Given the description of an element on the screen output the (x, y) to click on. 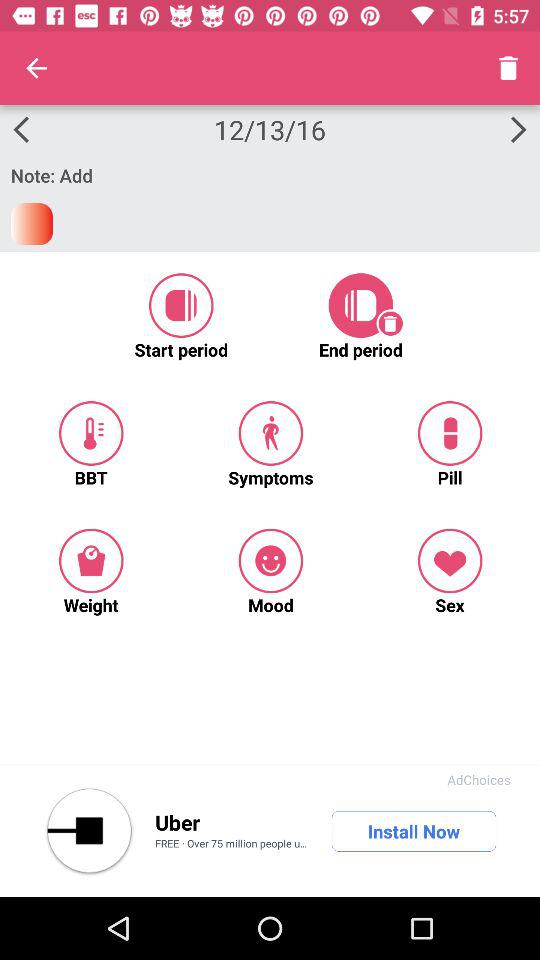
flip until install now app (413, 831)
